Given the description of an element on the screen output the (x, y) to click on. 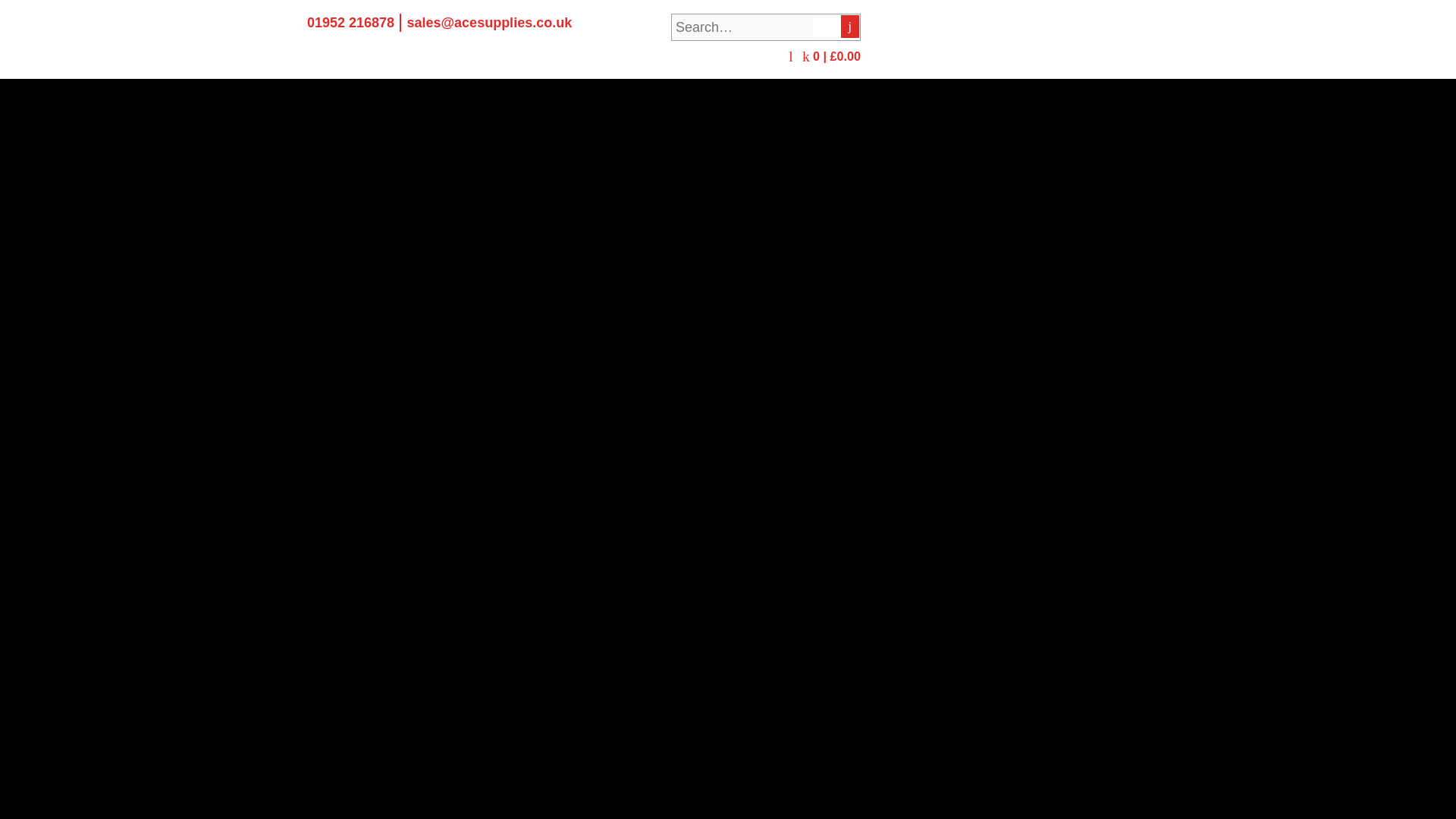
Email (489, 22)
01952 216878 (350, 22)
Basket (831, 55)
Call (350, 22)
